Given the description of an element on the screen output the (x, y) to click on. 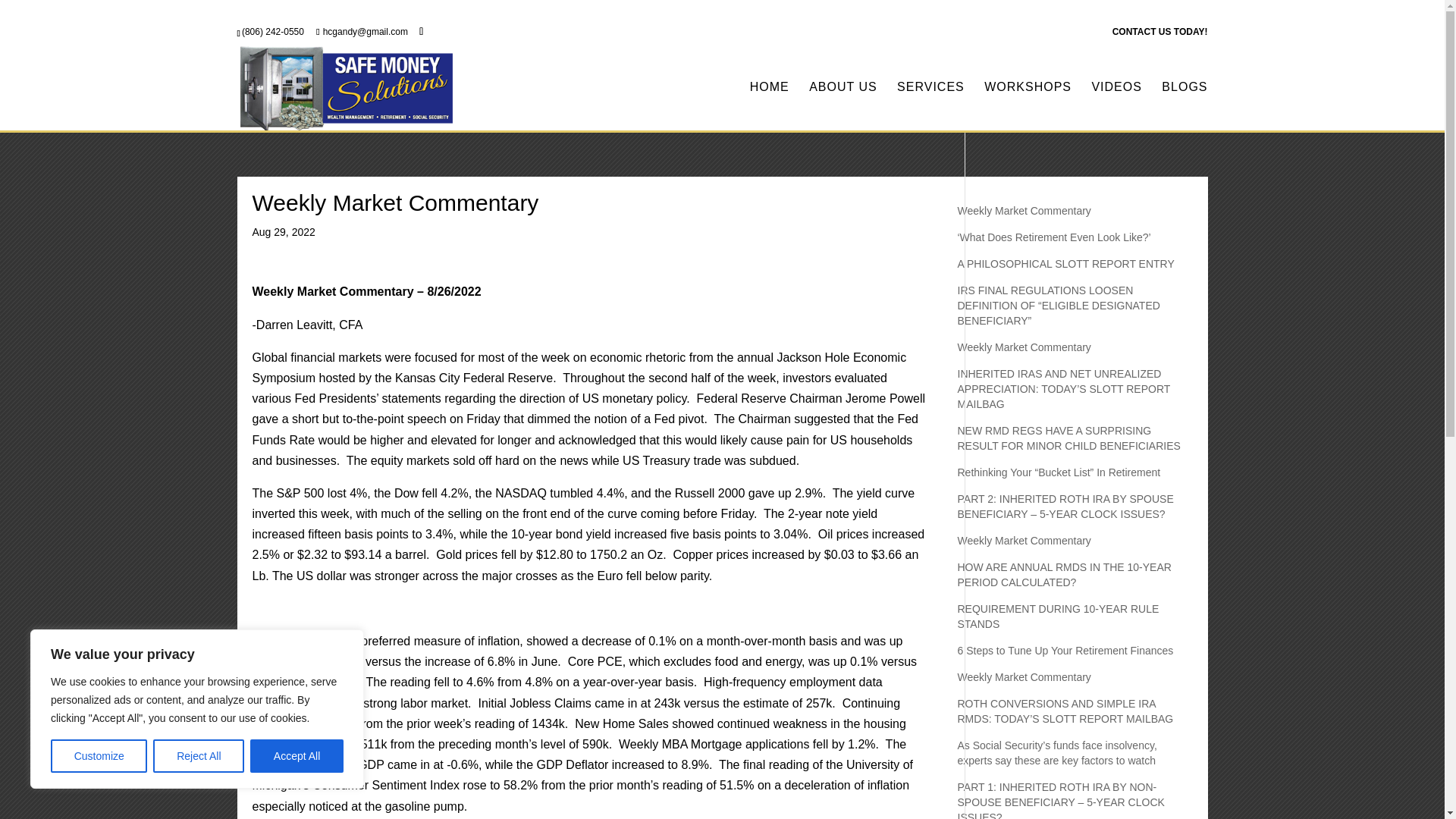
VIDEOS (1115, 105)
ABOUT US (843, 105)
Weekly Market Commentary (1023, 210)
CONTACT US TODAY! (1160, 35)
Customize (98, 756)
BLOGS (1184, 105)
Accept All (296, 756)
WORKSHOPS (1027, 105)
A PHILOSOPHICAL SLOTT REPORT ENTRY (1064, 263)
Reject All (198, 756)
